Given the description of an element on the screen output the (x, y) to click on. 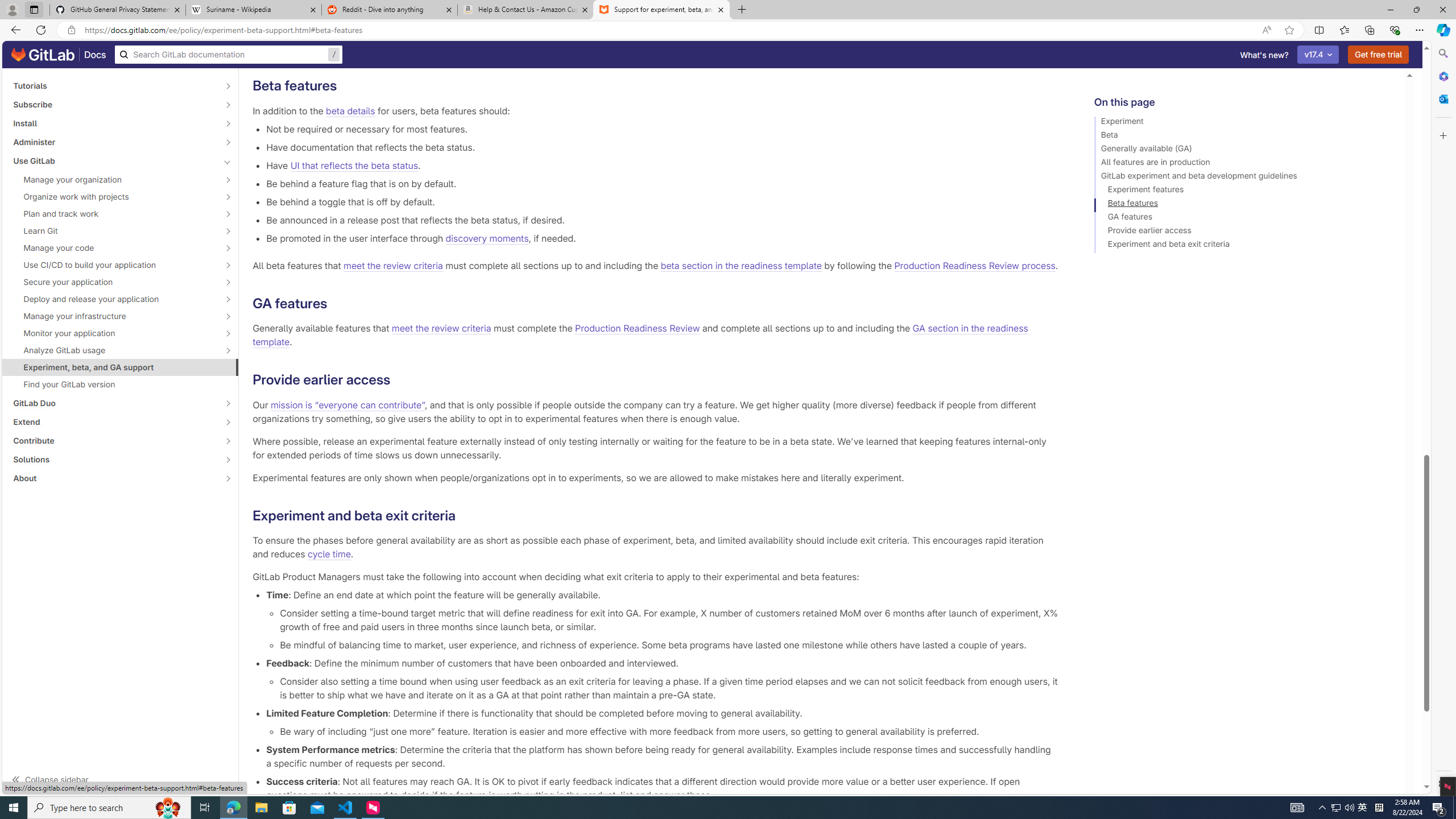
cycle time (328, 554)
Experiment features (1244, 191)
Secure your application (113, 281)
Monitor your application (113, 333)
Experiment, beta, and GA support (120, 366)
Install (113, 122)
/ (229, 54)
All features are in production (1244, 164)
Beta features (1244, 205)
GA features (1244, 218)
Be behind a toggle that is off by default. (662, 201)
Beta (1244, 136)
